Given the description of an element on the screen output the (x, y) to click on. 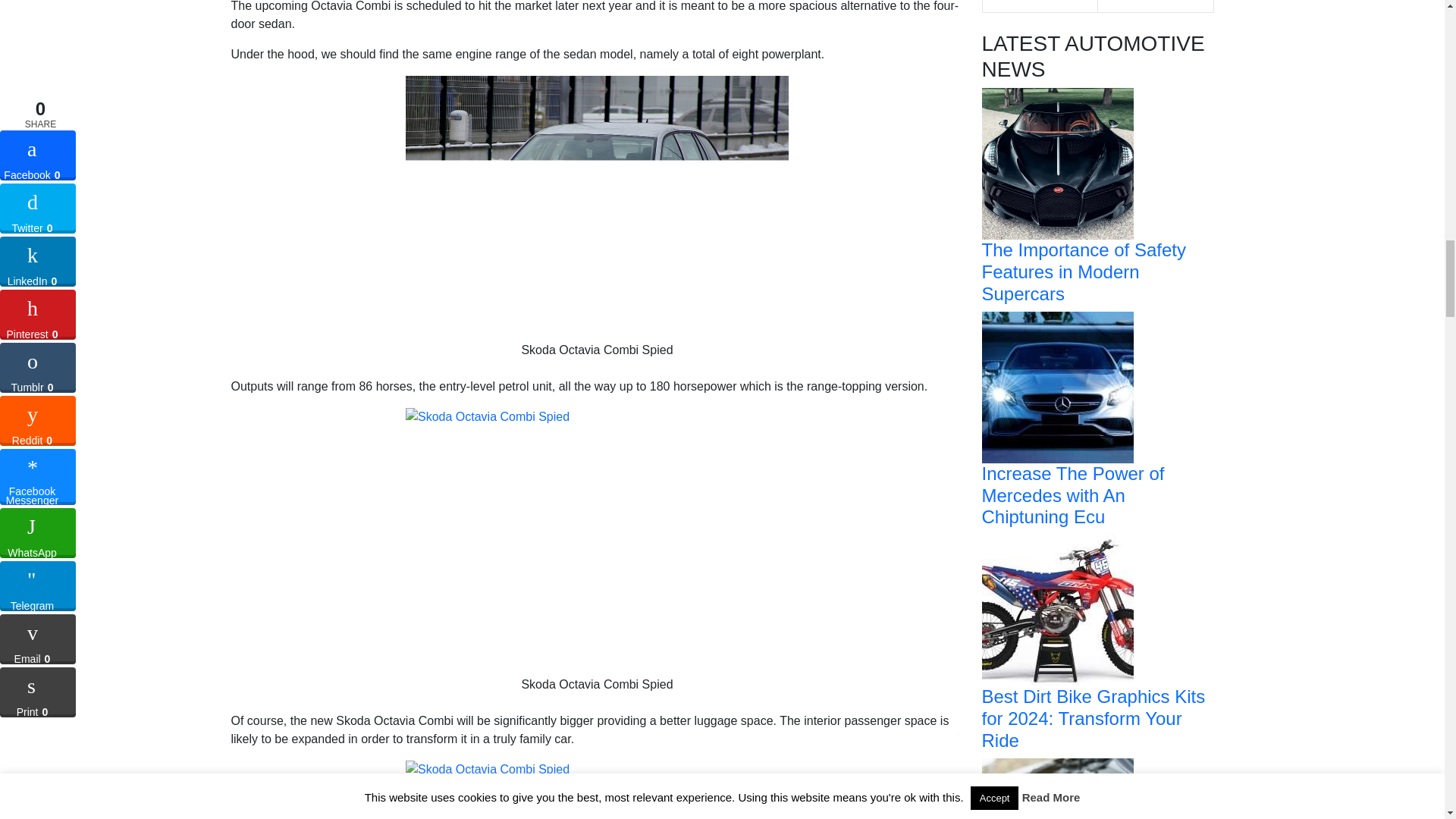
Best Dirt Bike Graphics Kits for 2024: Transform Your Ride (1056, 608)
Increase The Power of Mercedes with An Chiptuning Ecu (1056, 386)
The Importance of Safety Features in Modern Supercars (1056, 163)
